Given the description of an element on the screen output the (x, y) to click on. 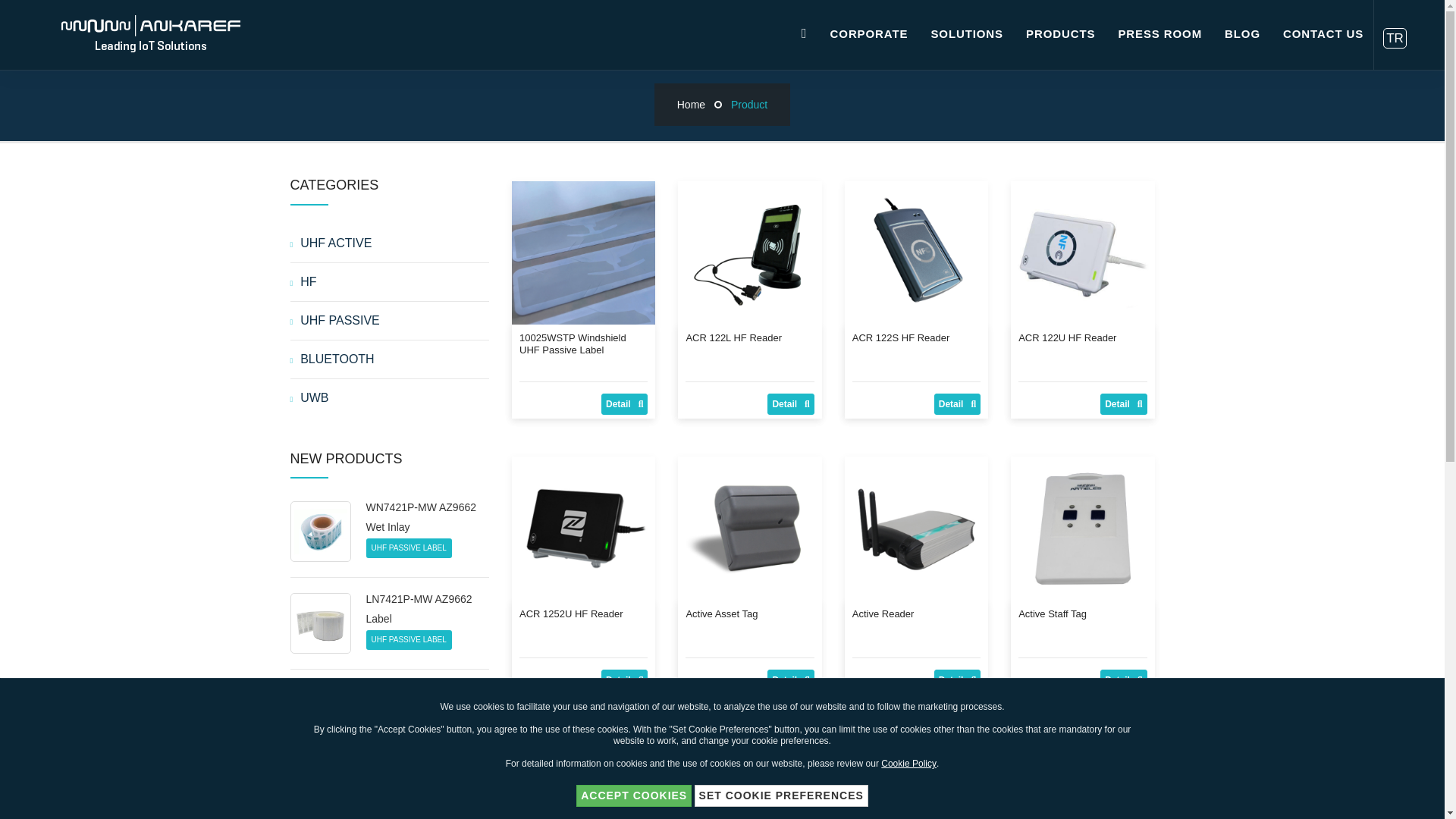
UHF PASSIVE (389, 320)
ACCEPT COOKIES (633, 796)
CORPORATE (869, 33)
BLOG (1241, 33)
TR (1394, 38)
Home (690, 104)
SOLUTIONS (966, 33)
SET COOKIE PREFERENCES (780, 796)
PRODUCTS (1060, 33)
UHF ACTIVE (389, 243)
PRESS ROOM (1159, 33)
Cookie Policy (908, 764)
CONTACT US (1322, 33)
HF (389, 281)
